Given the description of an element on the screen output the (x, y) to click on. 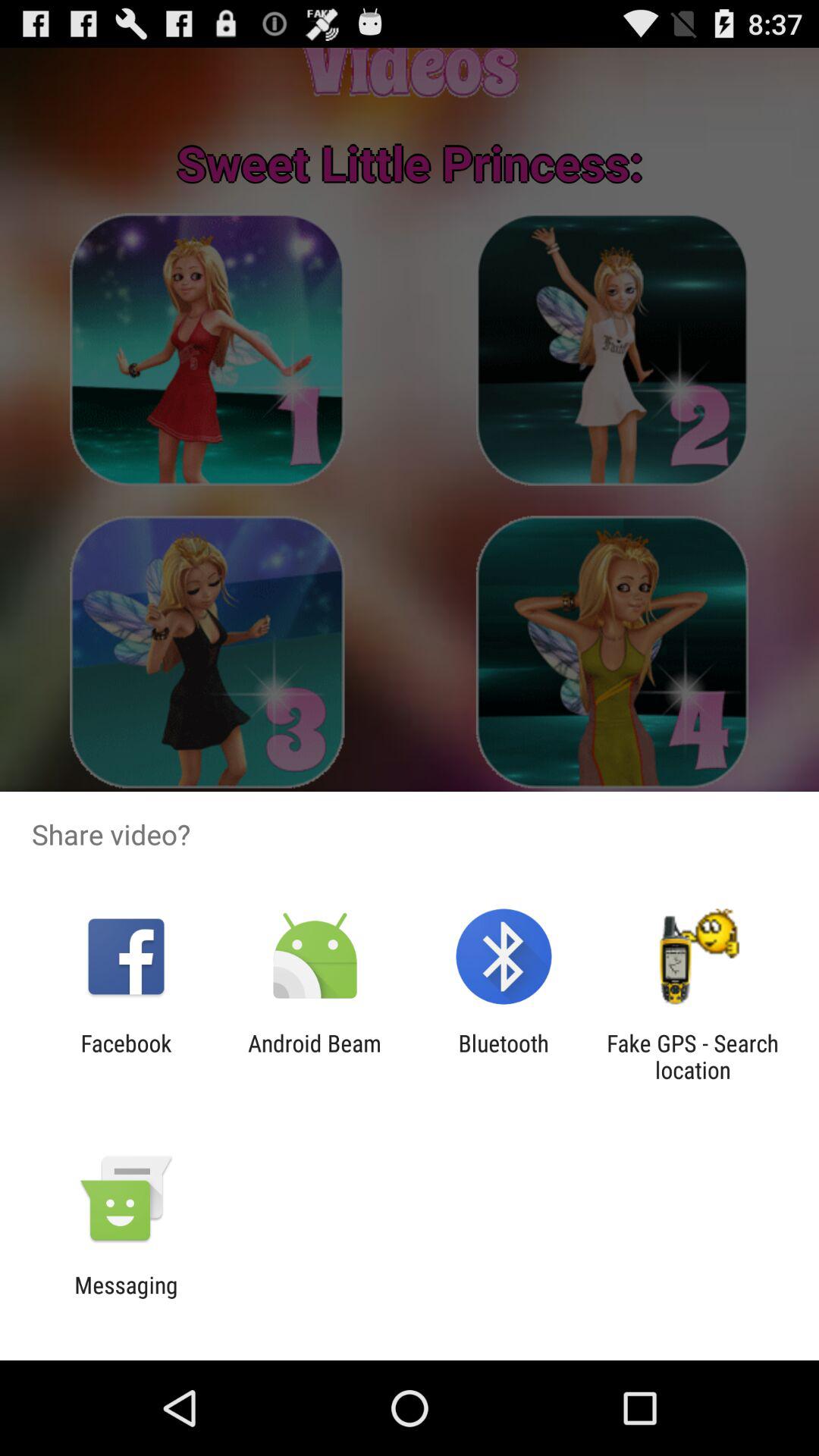
select item to the right of facebook item (314, 1056)
